Given the description of an element on the screen output the (x, y) to click on. 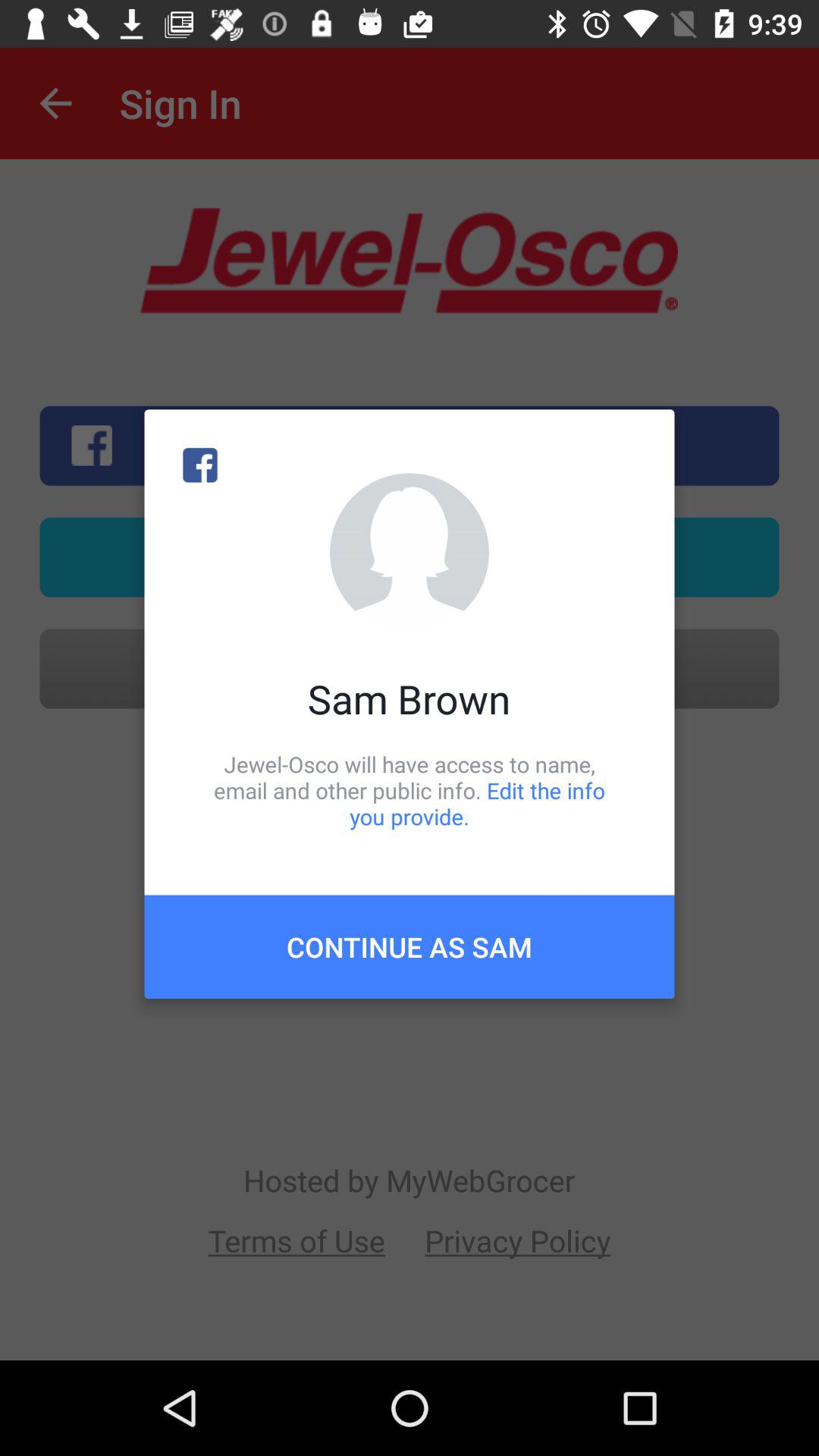
select icon below the jewel osco will item (409, 946)
